Given the description of an element on the screen output the (x, y) to click on. 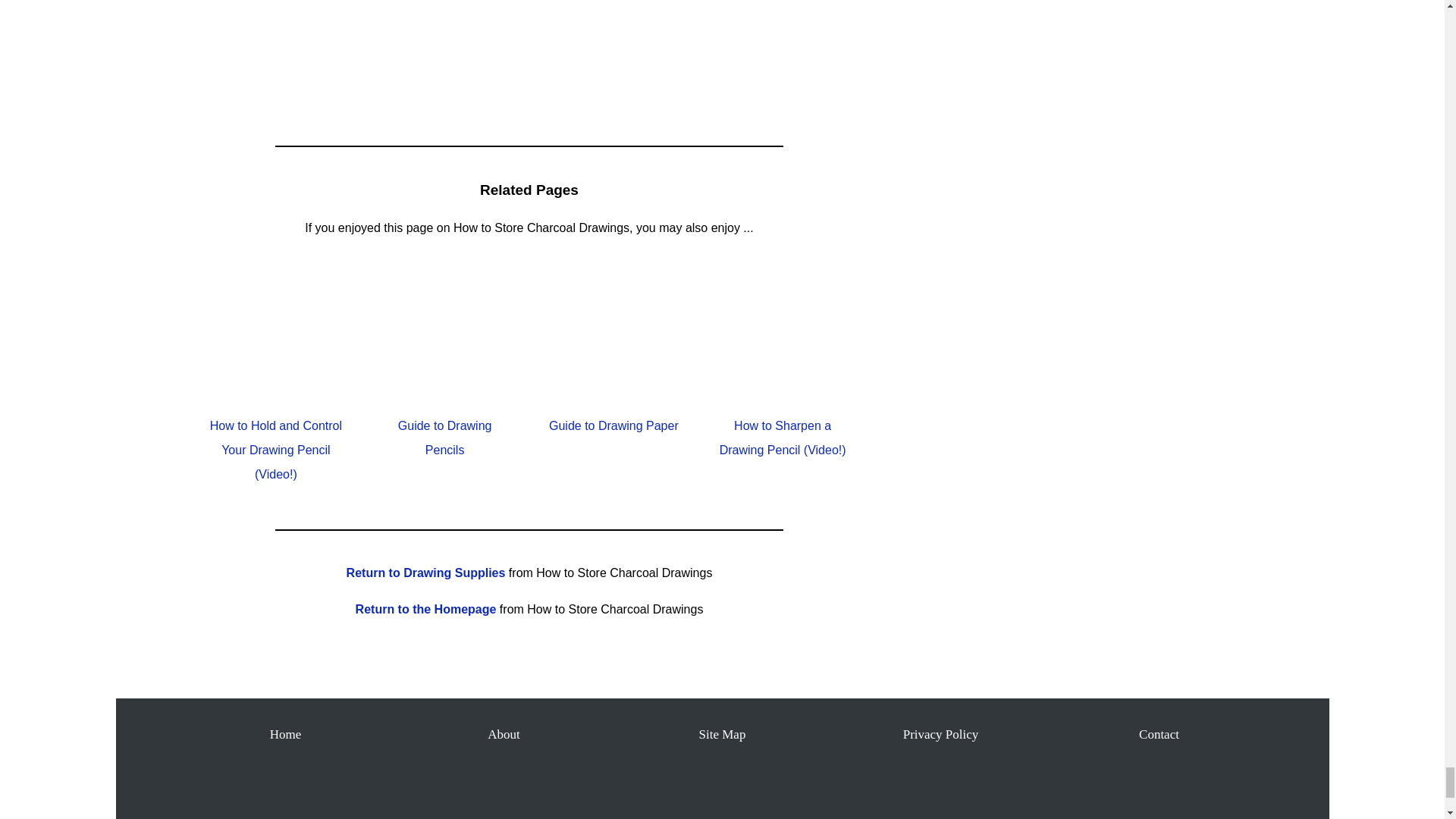
Guide to Drawing Paper (613, 425)
Return to the Homepage (425, 608)
Go to The Best Drawing Paper for Realistic Drawing (613, 390)
Contact (1158, 734)
Site Map (721, 734)
Privacy Policy (940, 734)
Guide to Drawing Pencils (444, 437)
About (503, 734)
Go to How to Sharpen a Drawing Pencil (782, 390)
